Given the description of an element on the screen output the (x, y) to click on. 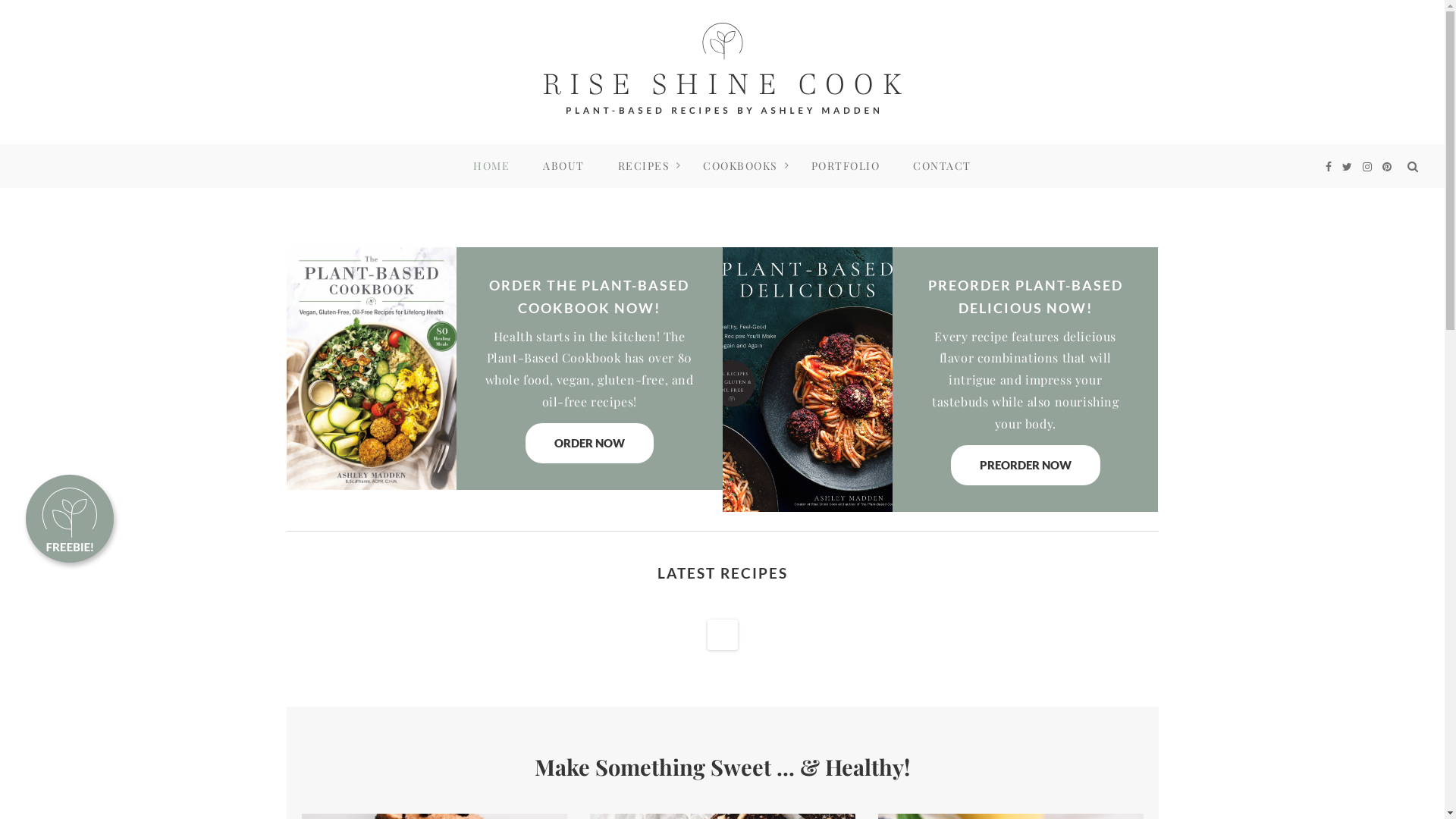
COOKBOOKS Element type: text (740, 166)
CONTACT Element type: text (941, 166)
ABOUT Element type: text (563, 166)
PREORDER NOW Element type: text (1025, 465)
PORTFOLIO Element type: text (845, 166)
HOME Element type: text (491, 166)
RECIPES Element type: text (643, 166)
ORDER NOW Element type: text (589, 443)
